Given the description of an element on the screen output the (x, y) to click on. 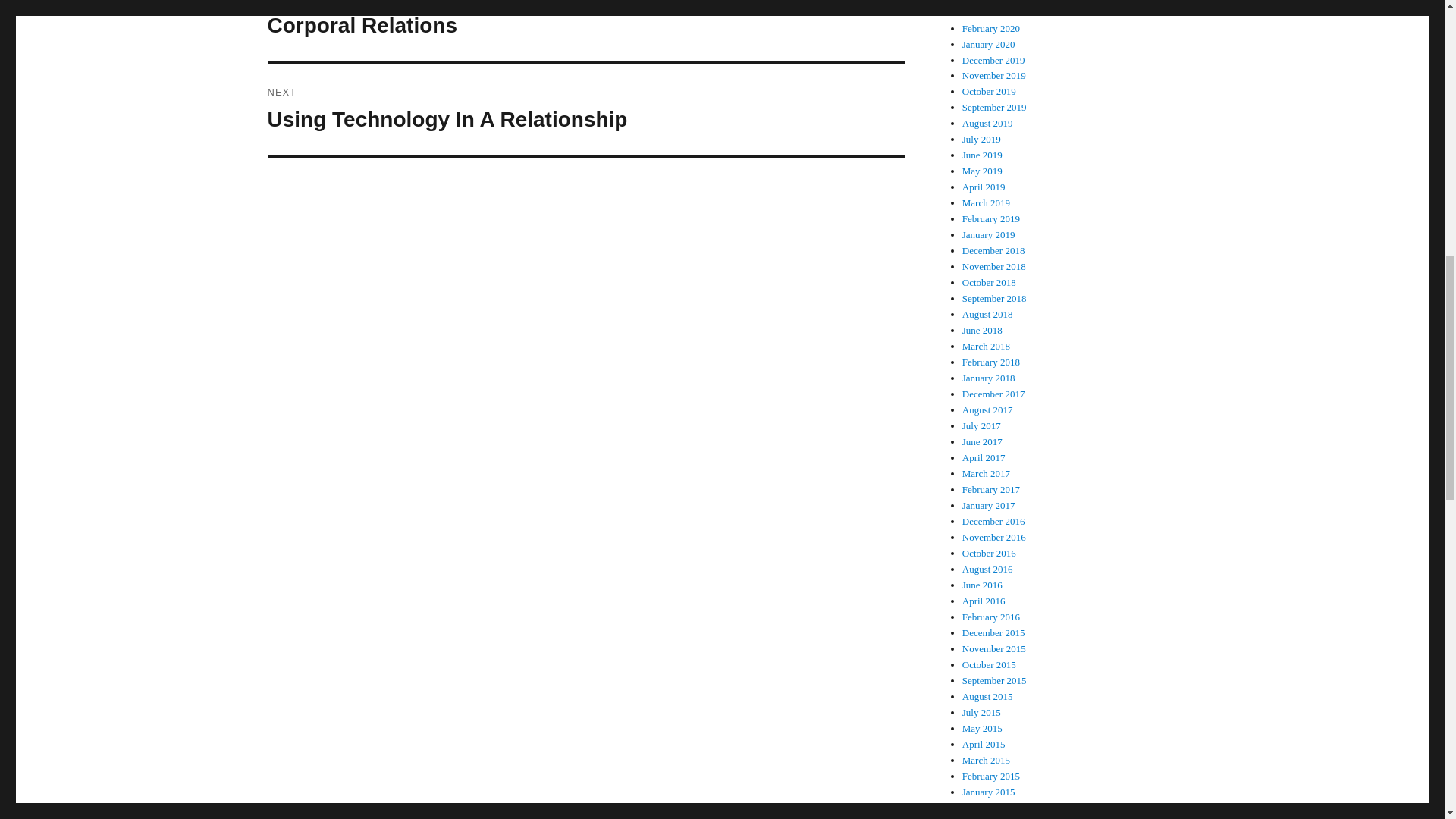
January 2020 (988, 43)
October 2019 (989, 91)
July 2019 (981, 138)
May 2019 (982, 170)
June 2019 (585, 108)
December 2019 (982, 154)
August 2019 (993, 60)
November 2019 (987, 122)
